Given the description of an element on the screen output the (x, y) to click on. 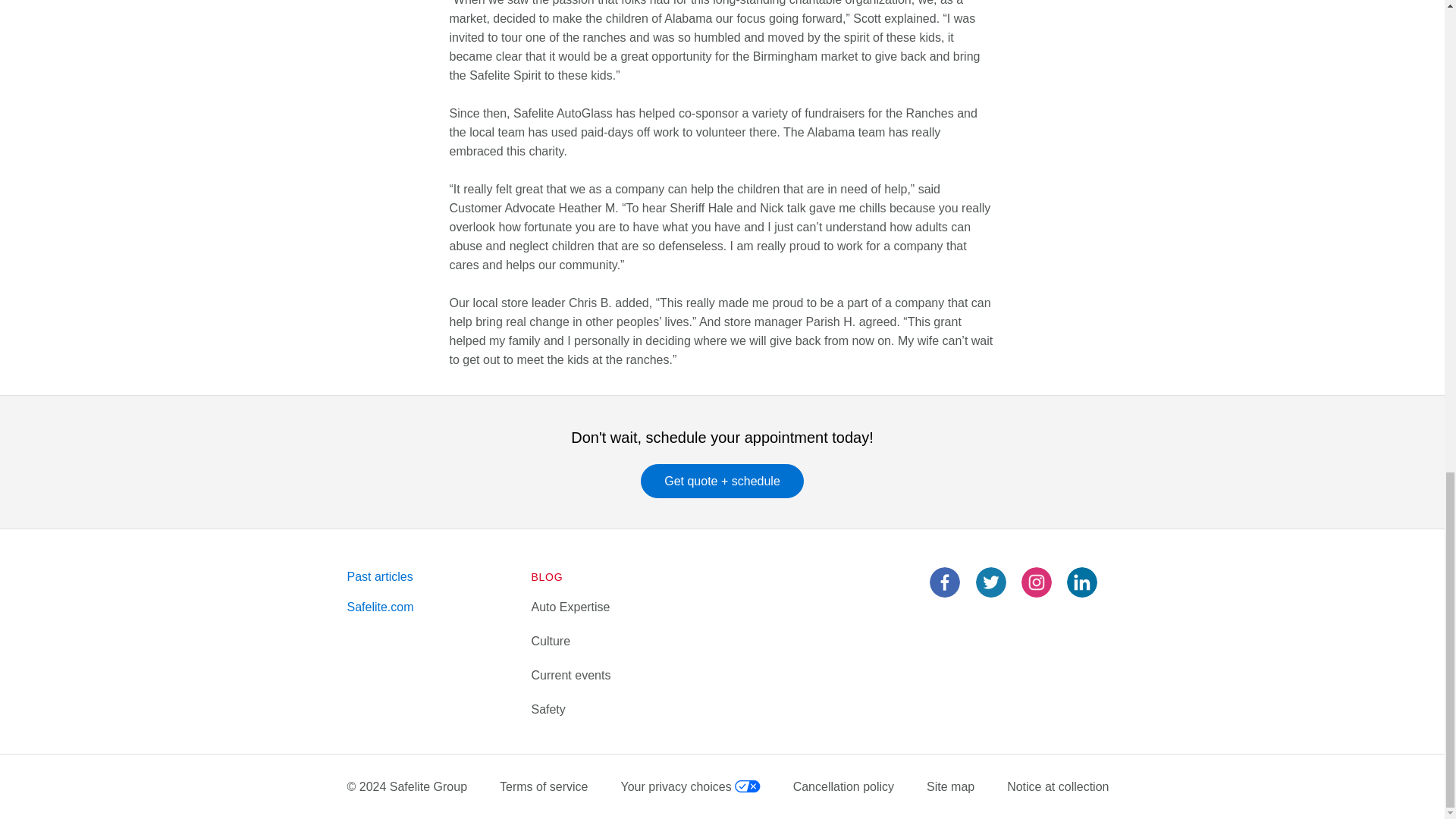
Your privacy choices (690, 786)
Current events (570, 674)
Safety (547, 709)
Past articles (380, 576)
Safelite.com (380, 606)
Terms of service (543, 786)
Culture (550, 641)
Auto Expertise (570, 606)
Site map (950, 786)
Notice at collection (1057, 786)
